Given the description of an element on the screen output the (x, y) to click on. 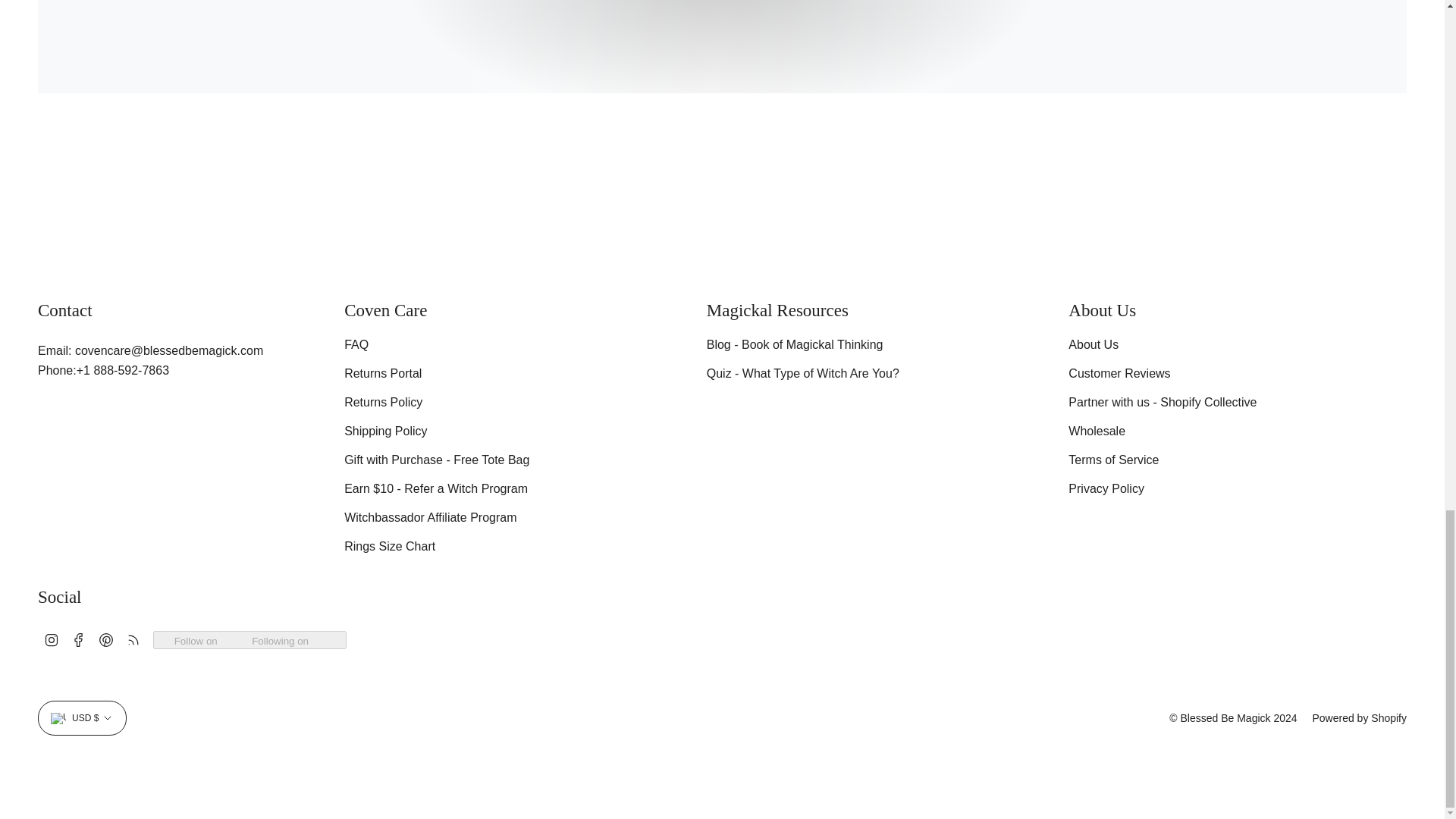
Blessed Be Magick on Feed (133, 638)
Blessed Be Magick on Facebook (78, 638)
Blessed Be Magick on Pinterest (106, 638)
Blessed Be Magick on Instagram (51, 638)
